Given the description of an element on the screen output the (x, y) to click on. 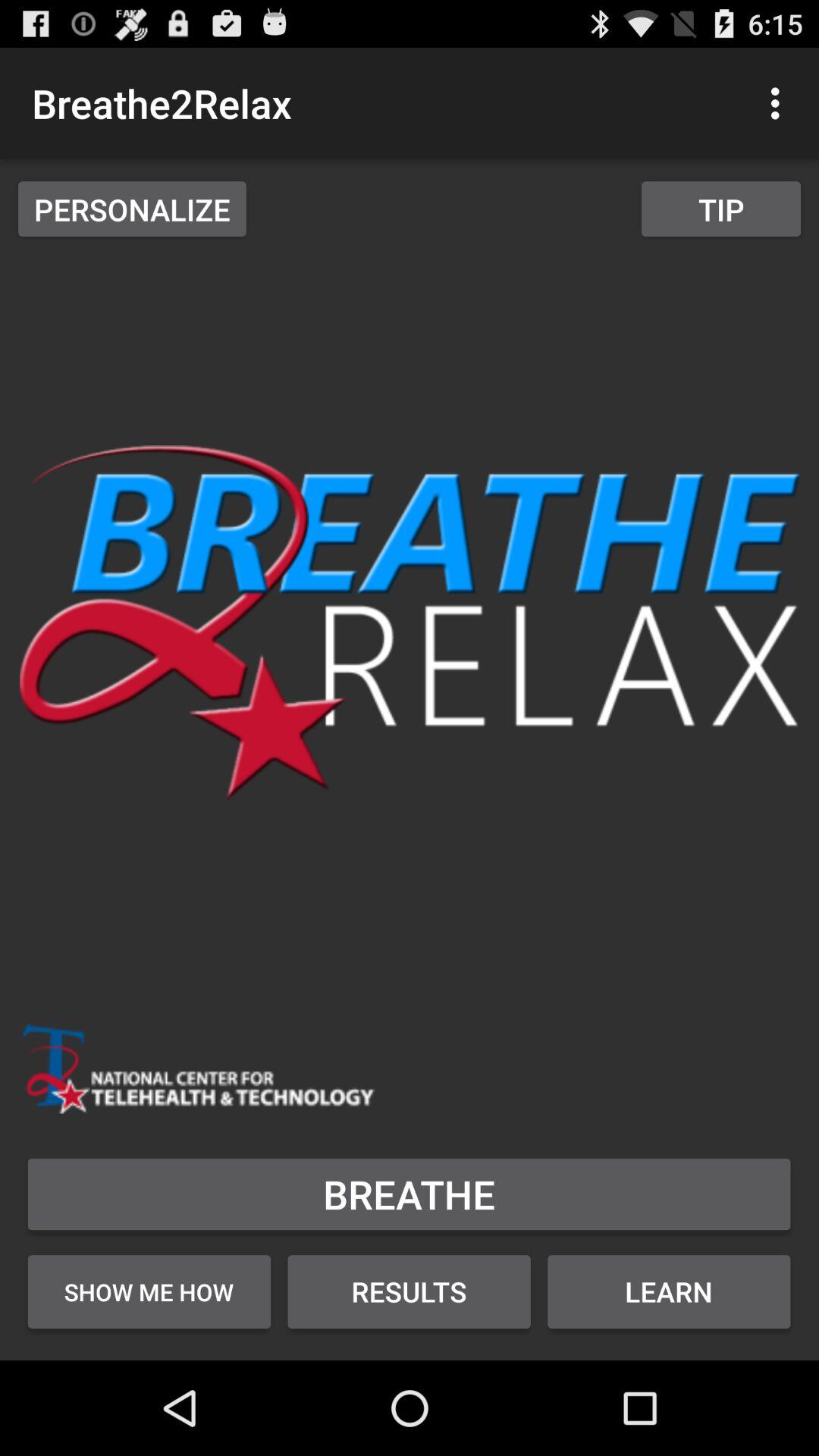
scroll until the results (408, 1291)
